Given the description of an element on the screen output the (x, y) to click on. 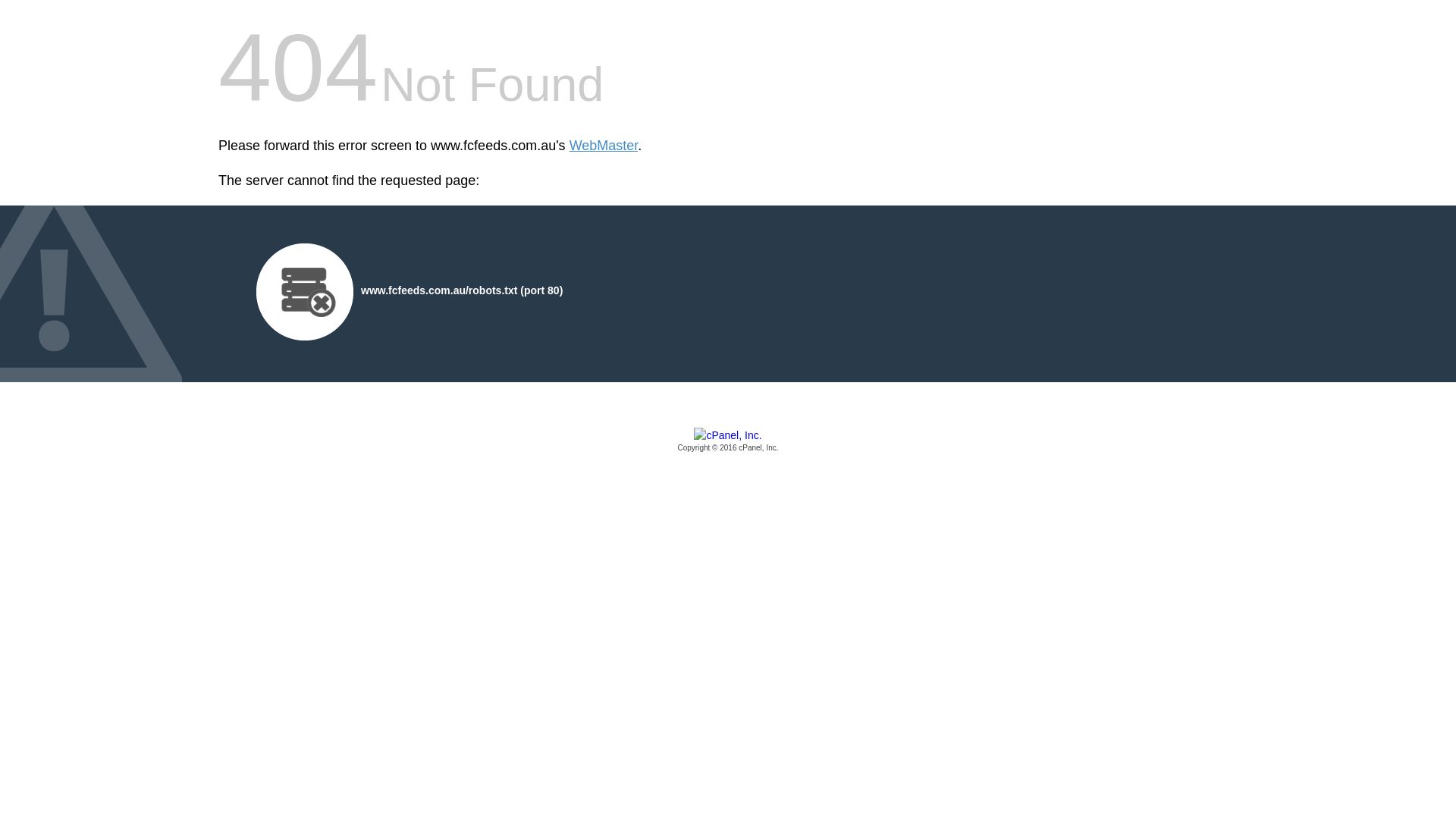
WebMaster Element type: text (603, 145)
